Given the description of an element on the screen output the (x, y) to click on. 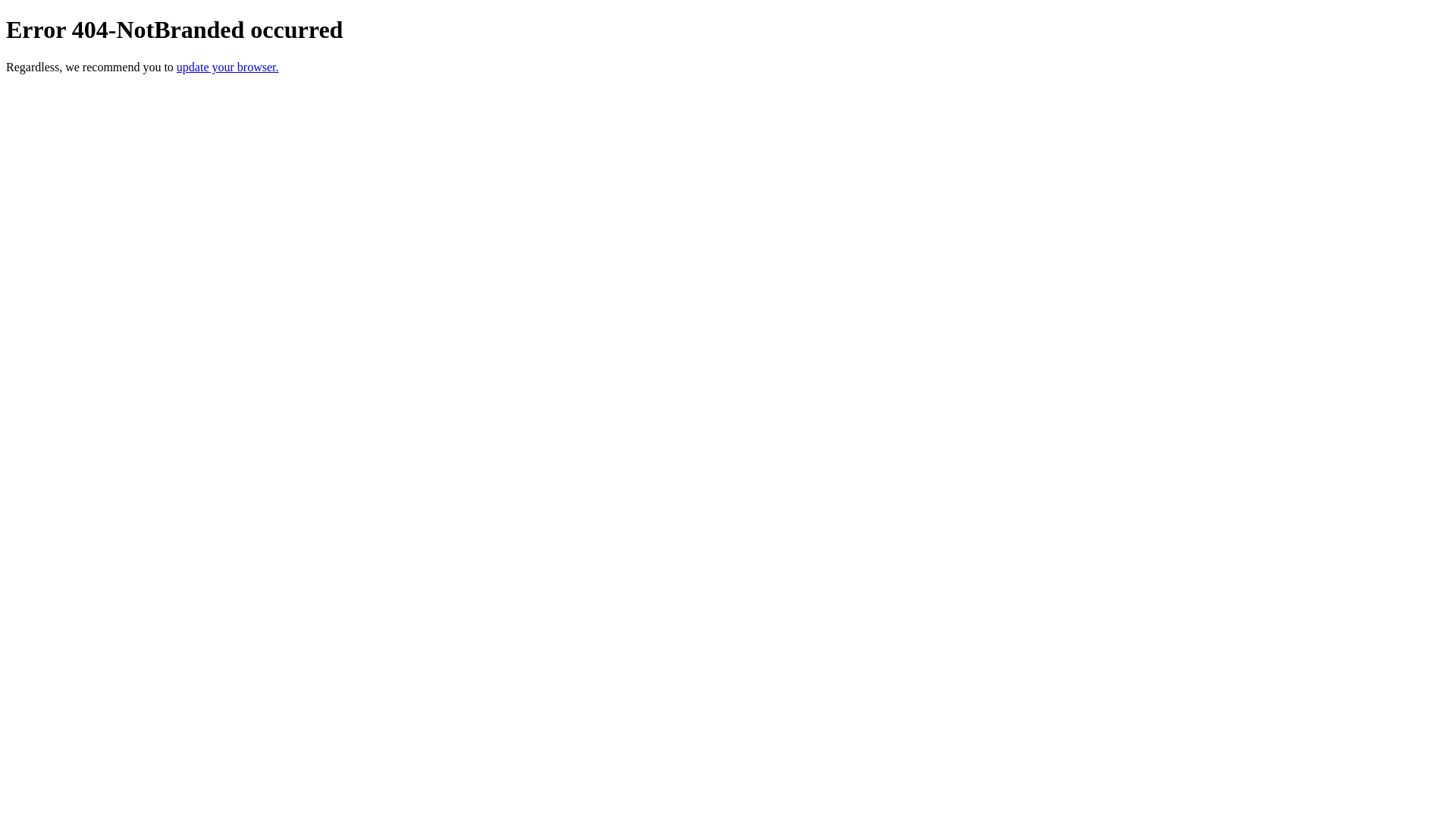
update your browser. Element type: text (227, 66)
